Given the description of an element on the screen output the (x, y) to click on. 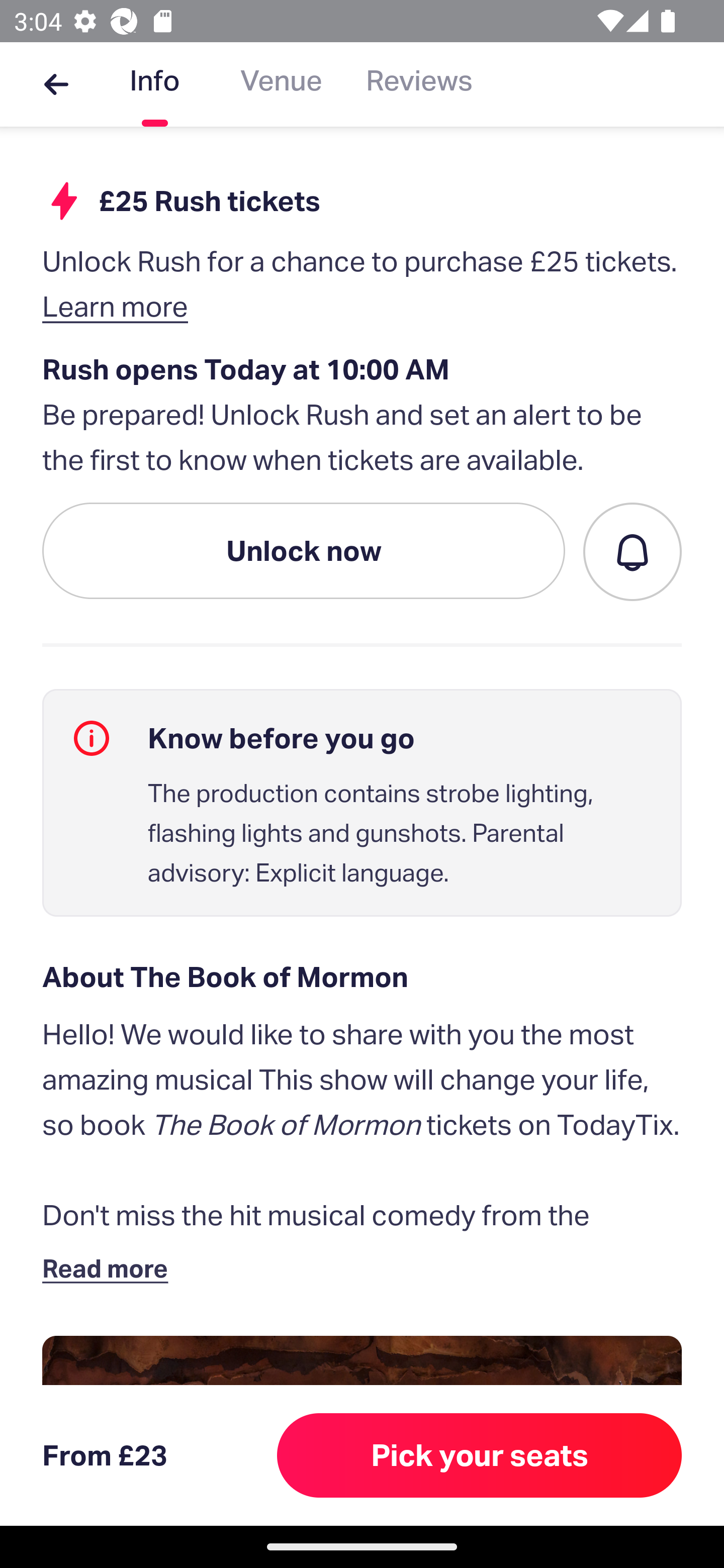
Venue (280, 84)
Reviews (419, 84)
Unlock now (303, 550)
About The Book of Mormon (361, 977)
Read more (109, 1267)
Pick your seats (479, 1454)
